Given the description of an element on the screen output the (x, y) to click on. 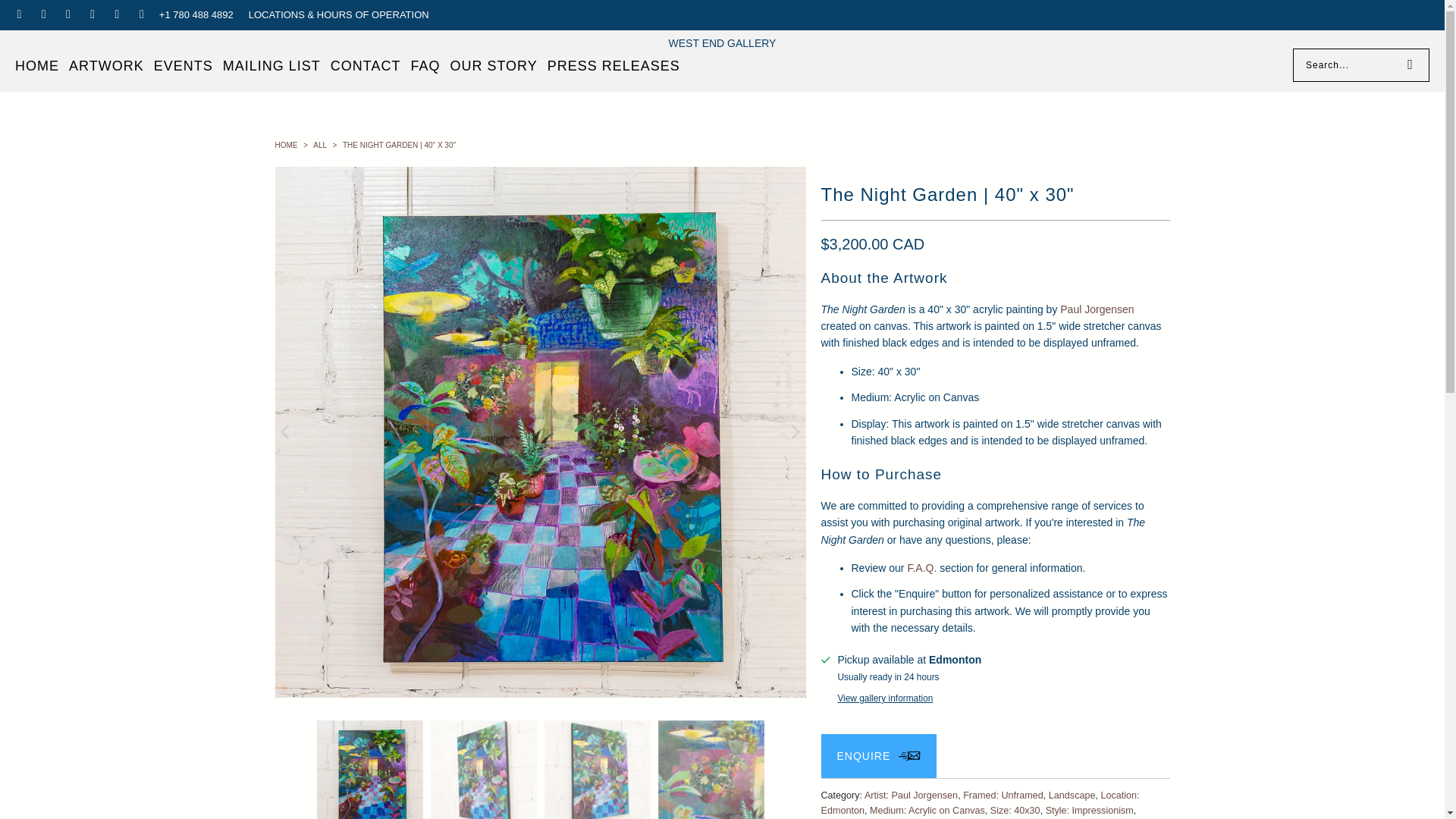
PRESS RELEASES (613, 66)
Products tagged Location: Edmonton (979, 802)
Products tagged Artist: Paul Jorgensen (911, 795)
All (321, 144)
Email West End Gallery (17, 14)
West End Gallery on YouTube (140, 14)
ARTWORK (106, 66)
HOME (36, 66)
WEST END GALLERY (722, 42)
West End Gallery on Facebook (41, 14)
West End Gallery on Instagram (67, 14)
Products tagged Landscape (1072, 795)
West End Gallery on Pinterest (91, 14)
Products tagged Framed: Unframed (1002, 795)
West End Gallery (722, 42)
